Given the description of an element on the screen output the (x, y) to click on. 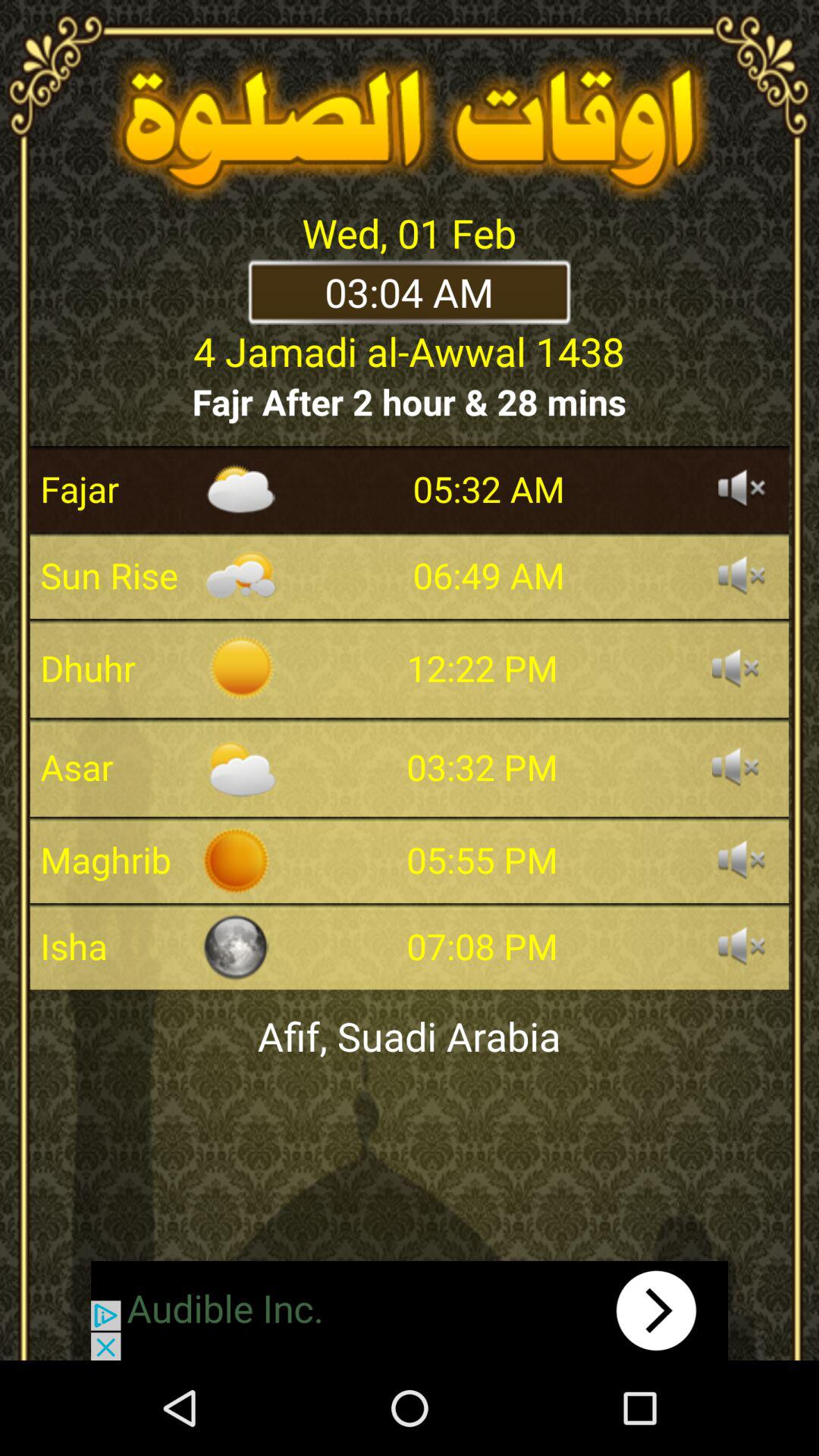
toggle sound (735, 668)
